Given the description of an element on the screen output the (x, y) to click on. 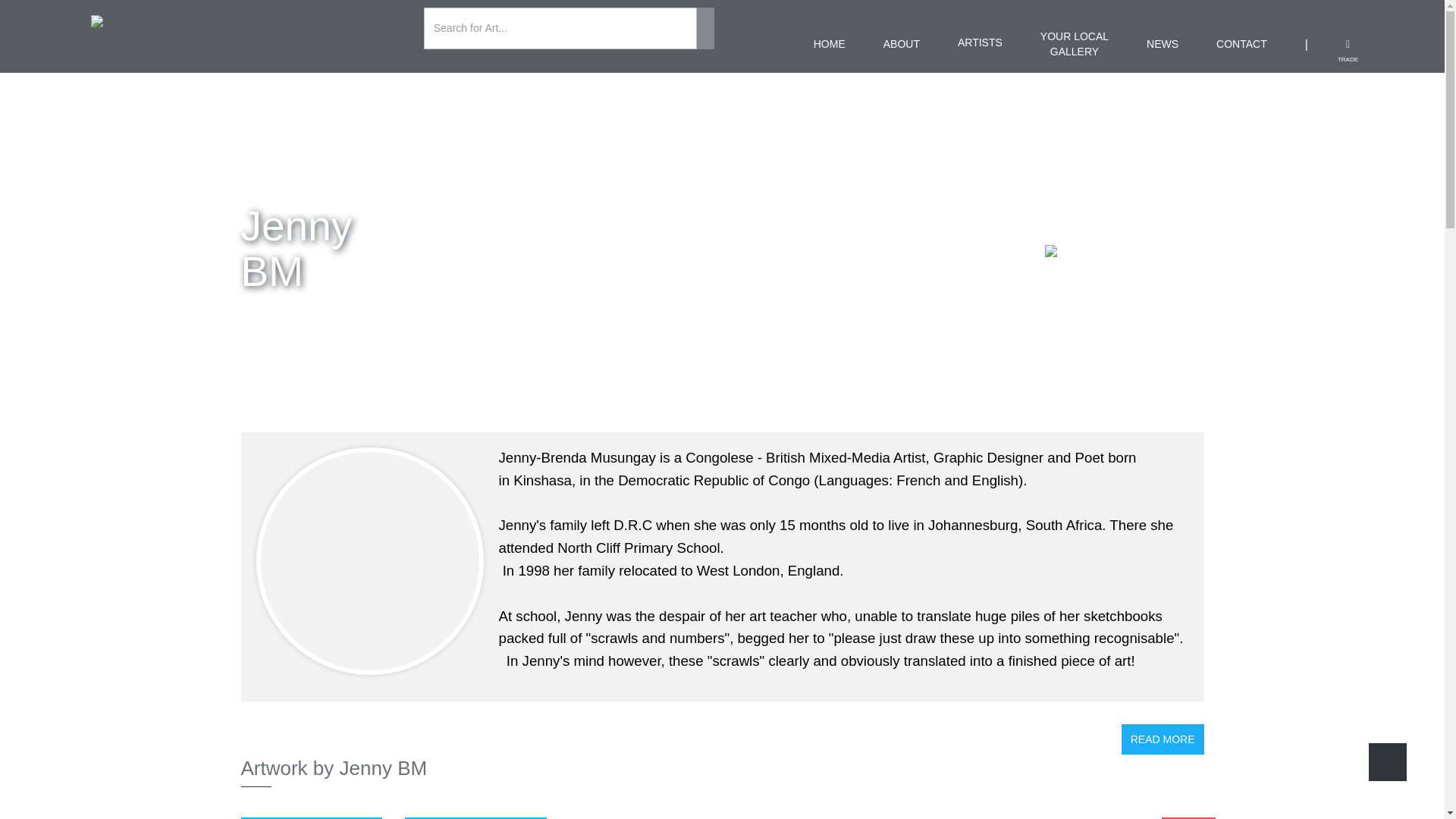
ABOUT (901, 44)
ARTISTS (980, 55)
HOME (829, 44)
View Artwork (1074, 44)
LIMITED EDITION (722, 250)
READ MORE (475, 818)
RESET (1162, 738)
ORIGINAL (1188, 818)
Back To Top (311, 818)
NEWS (1387, 761)
CONTACT (1162, 44)
